Given the description of an element on the screen output the (x, y) to click on. 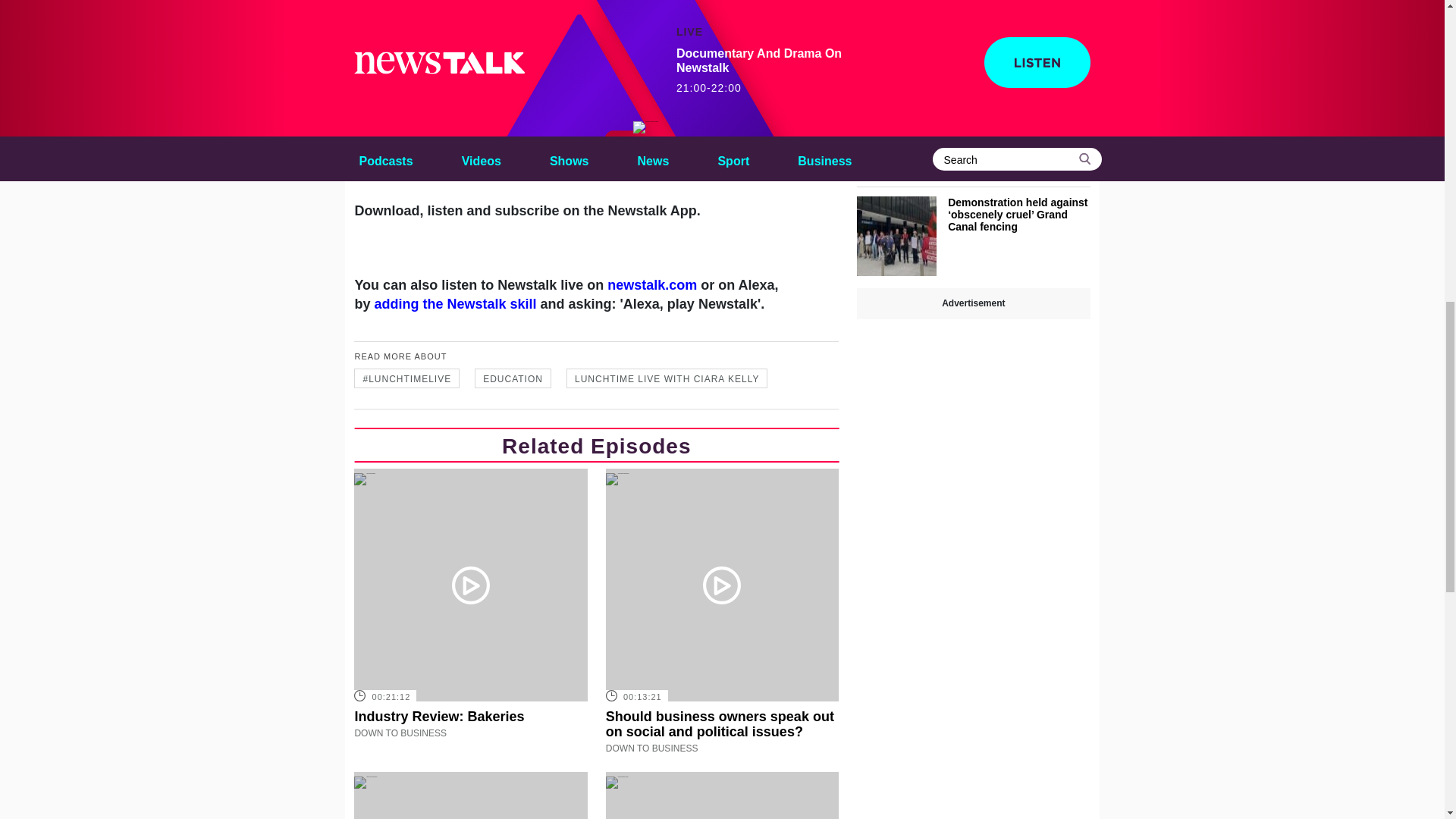
Google Podcasts (572, 127)
Apple Podcasts (686, 118)
adding the Newstalk skill (454, 304)
Spotify (469, 136)
newstalk.com (652, 284)
